Given the description of an element on the screen output the (x, y) to click on. 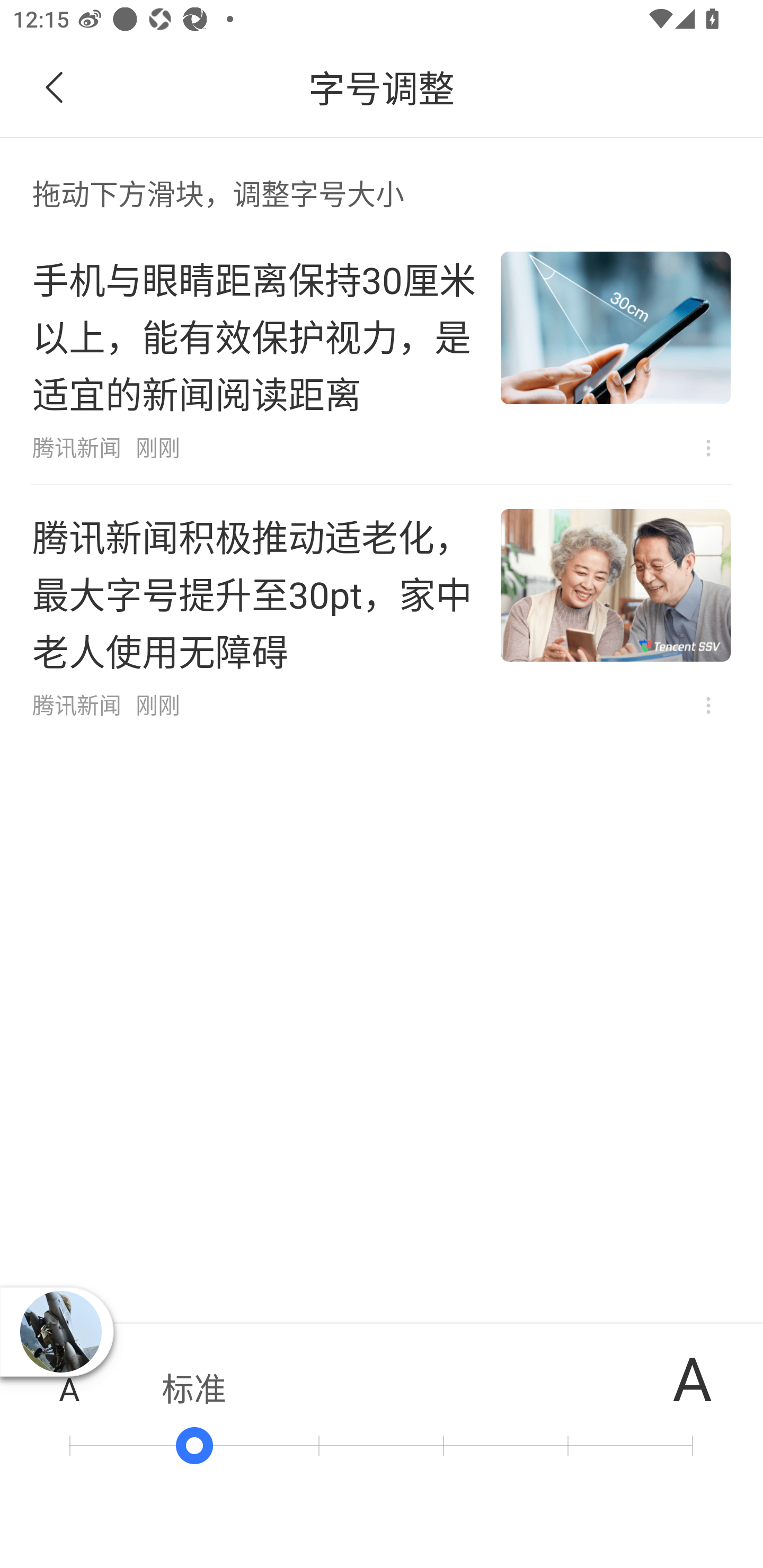
 返回 (54, 87)
手机与眼睛距离保持30厘米以上，能有效保护视力，是适宜的新闻阅读距离 腾讯新闻 刚刚  不感兴趣 (381, 355)
 不感兴趣 (707, 448)
腾讯新闻积极推动适老化，最大字号提升至30pt，家中老人使用无障碍 腾讯新闻 刚刚  不感兴趣 (381, 612)
 不感兴趣 (707, 705)
播放器 (61, 1331)
